Given the description of an element on the screen output the (x, y) to click on. 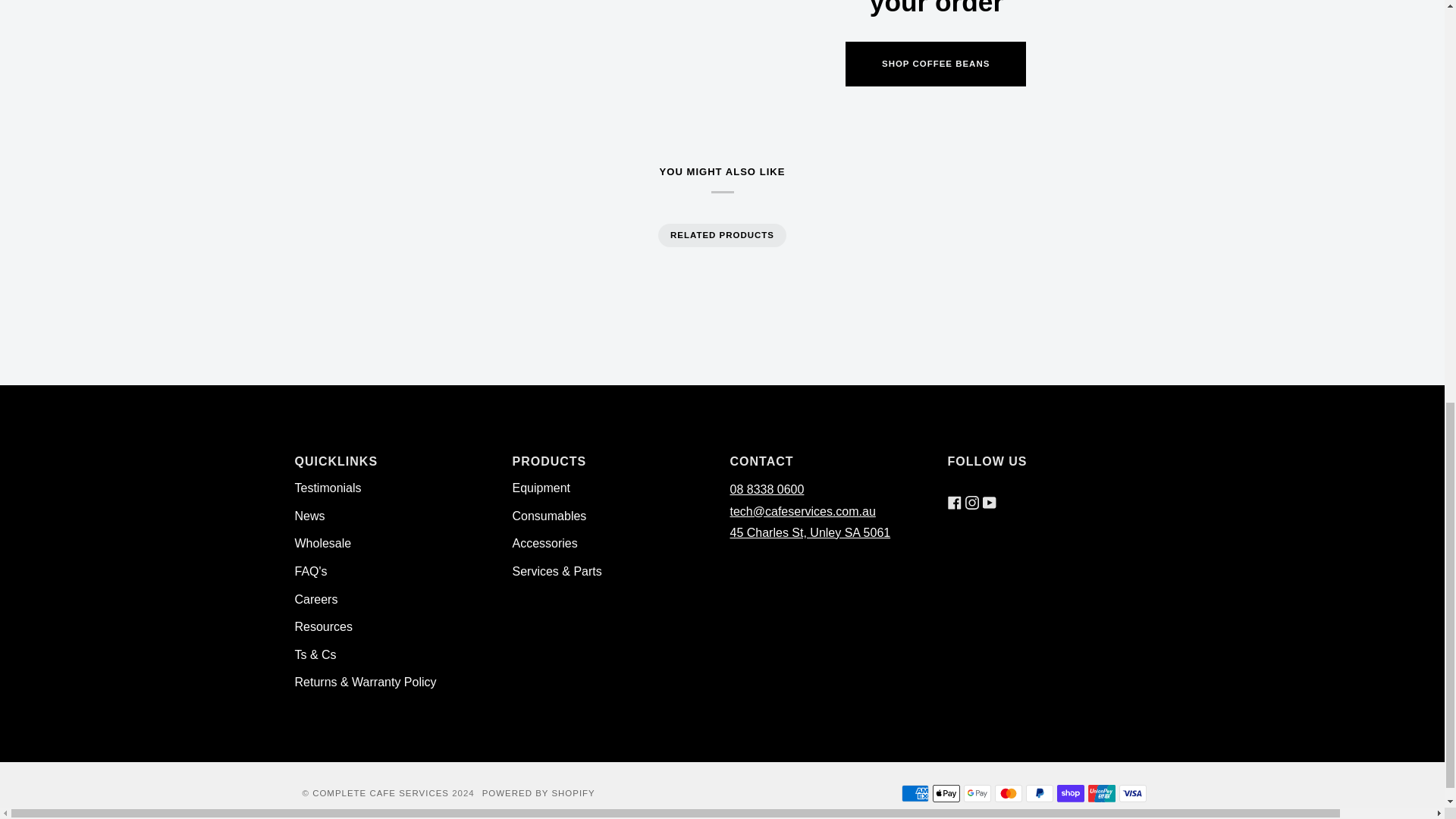
APPLE PAY (946, 792)
RELATED PRODUCTS (721, 234)
GOOGLE PAY (976, 792)
Instagram (970, 489)
SHOP PAY (1070, 792)
VISA (1133, 792)
UNION PAY (1101, 792)
PAYPAL (1038, 792)
tel:0883380600 (766, 489)
Facebook (953, 489)
